Given the description of an element on the screen output the (x, y) to click on. 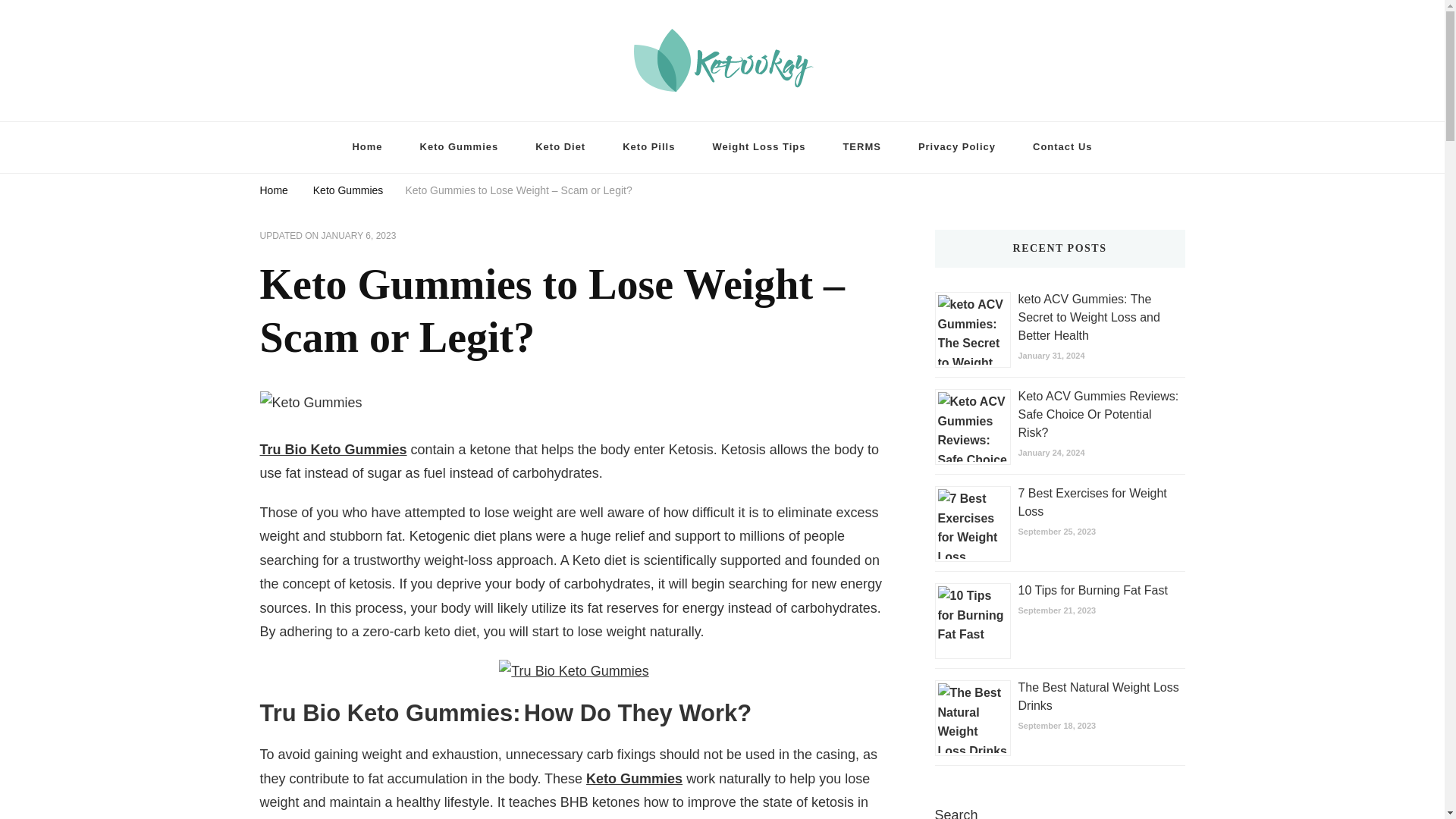
TERMS (860, 147)
JANUARY 6, 2023 (358, 236)
Home (366, 147)
Keto Gummies (348, 191)
Weight Loss Tips (758, 147)
Keto Gummies (459, 147)
Home (272, 191)
Privacy Policy (956, 147)
Contact Us (1062, 147)
Keto Gummies (634, 778)
